Given the description of an element on the screen output the (x, y) to click on. 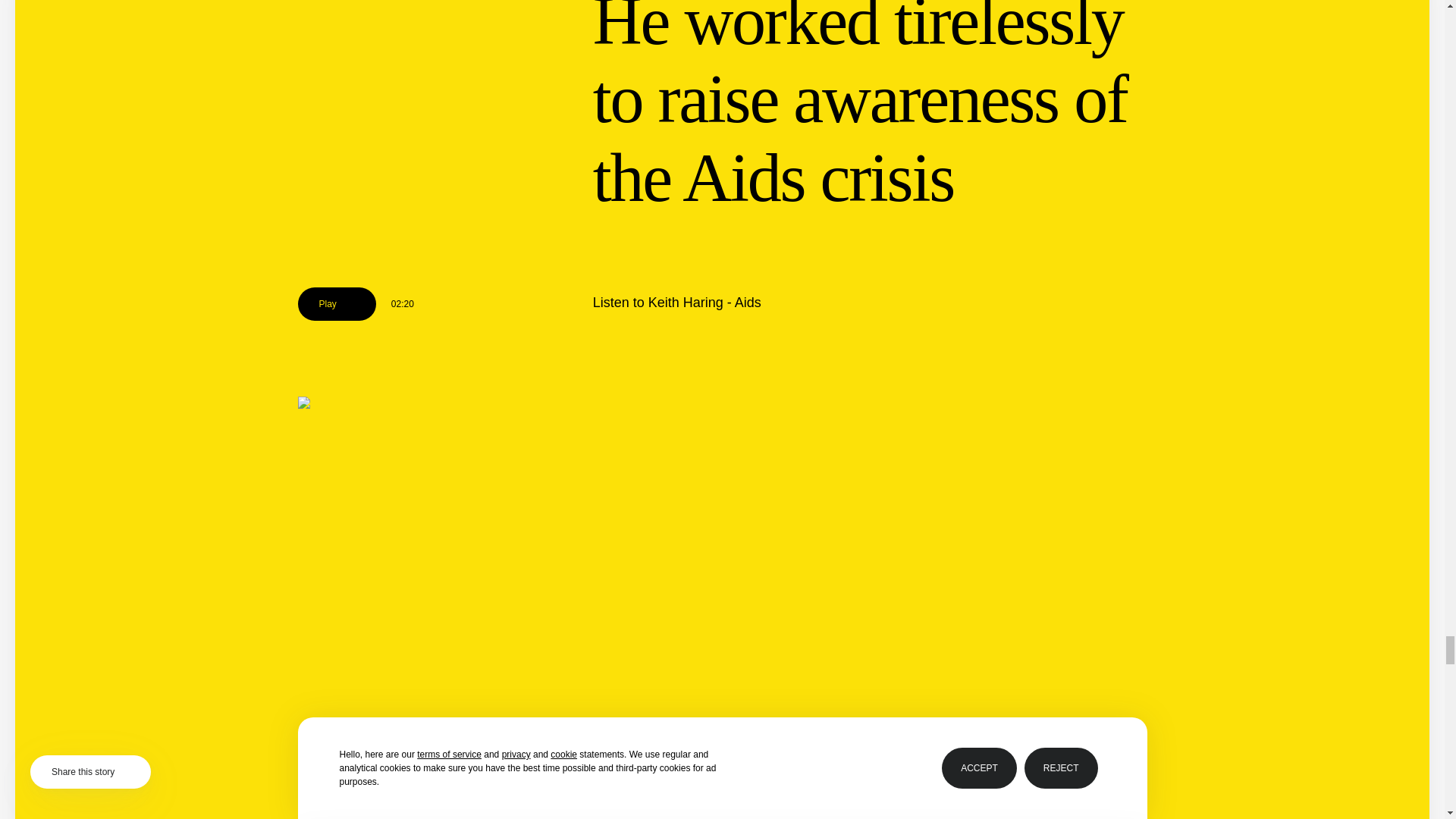
Play (336, 304)
